Given the description of an element on the screen output the (x, y) to click on. 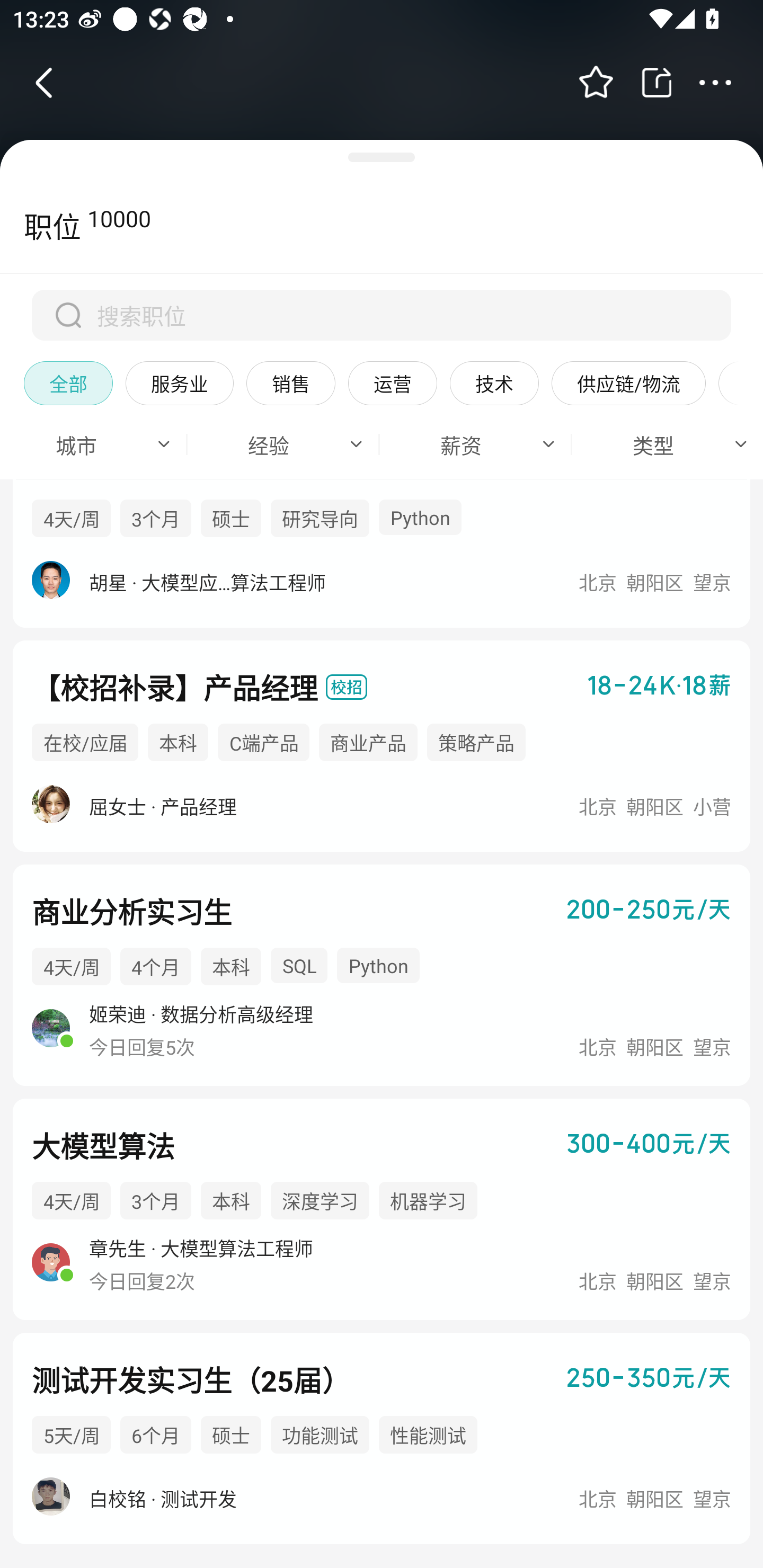
职位 10000 (75, 225)
搜索职位 (381, 315)
全部 (67, 382)
服务业 (179, 382)
销售 (290, 382)
运营 (392, 382)
技术 (494, 382)
供应链/物流 (628, 382)
城市 (85, 443)
经验 (274, 443)
薪资 (466, 443)
类型 (659, 443)
